Given the description of an element on the screen output the (x, y) to click on. 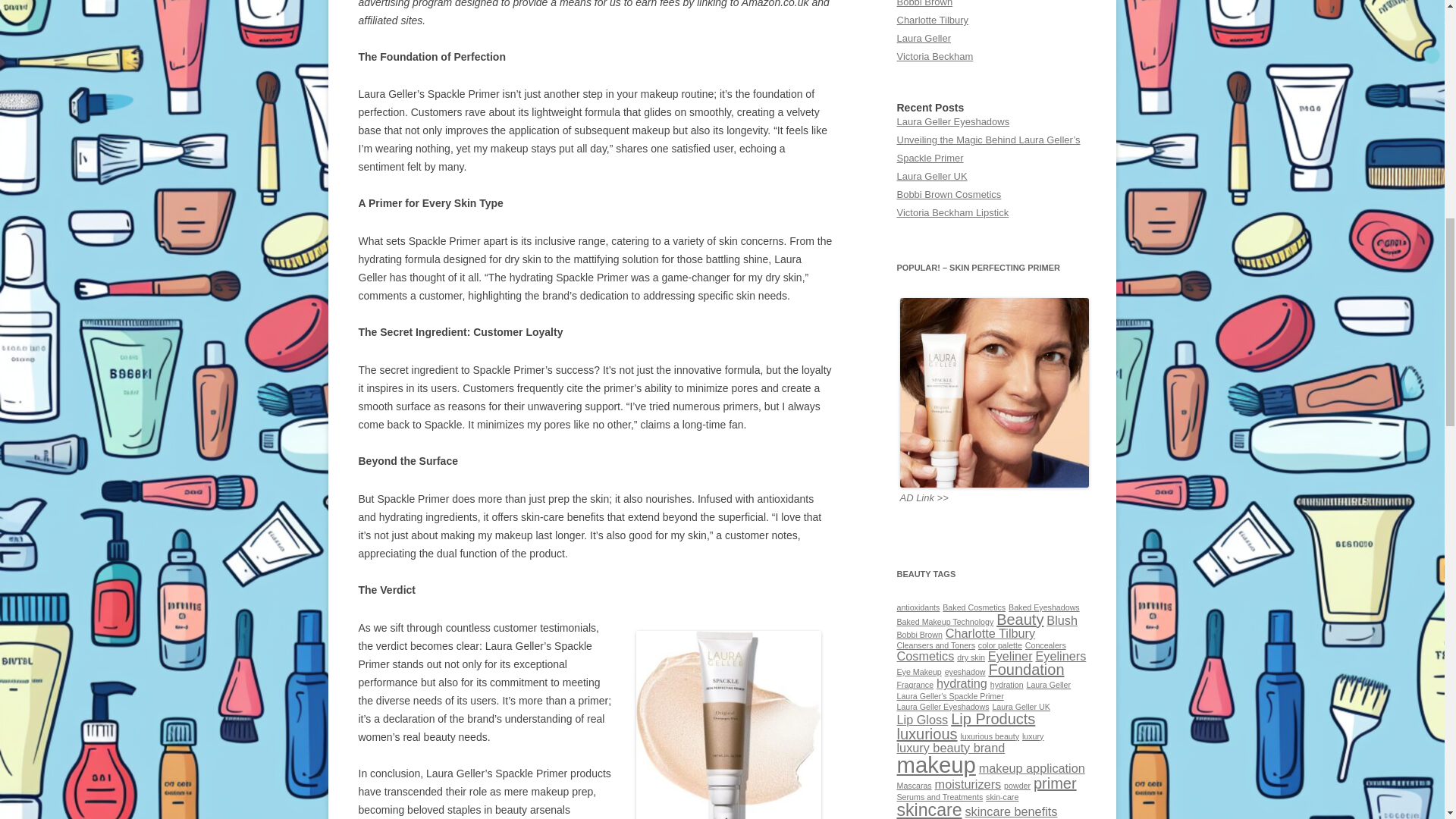
Popular! - Skin Perfecting Primer (994, 392)
Laura Geller (923, 38)
Charlotte Tilbury (932, 19)
Bobbi Brown (924, 3)
